Given the description of an element on the screen output the (x, y) to click on. 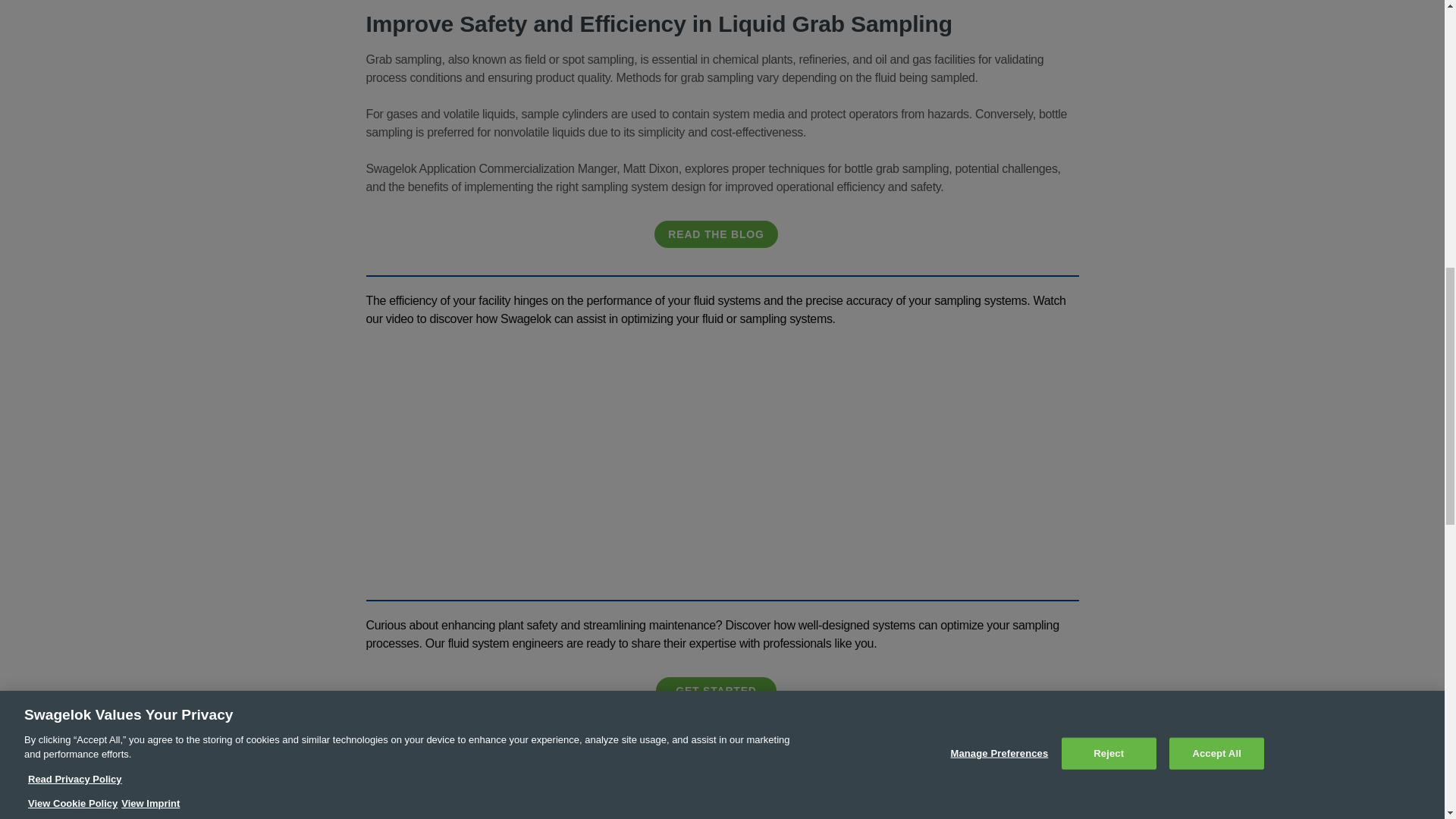
YouTube video player (720, 459)
